Given the description of an element on the screen output the (x, y) to click on. 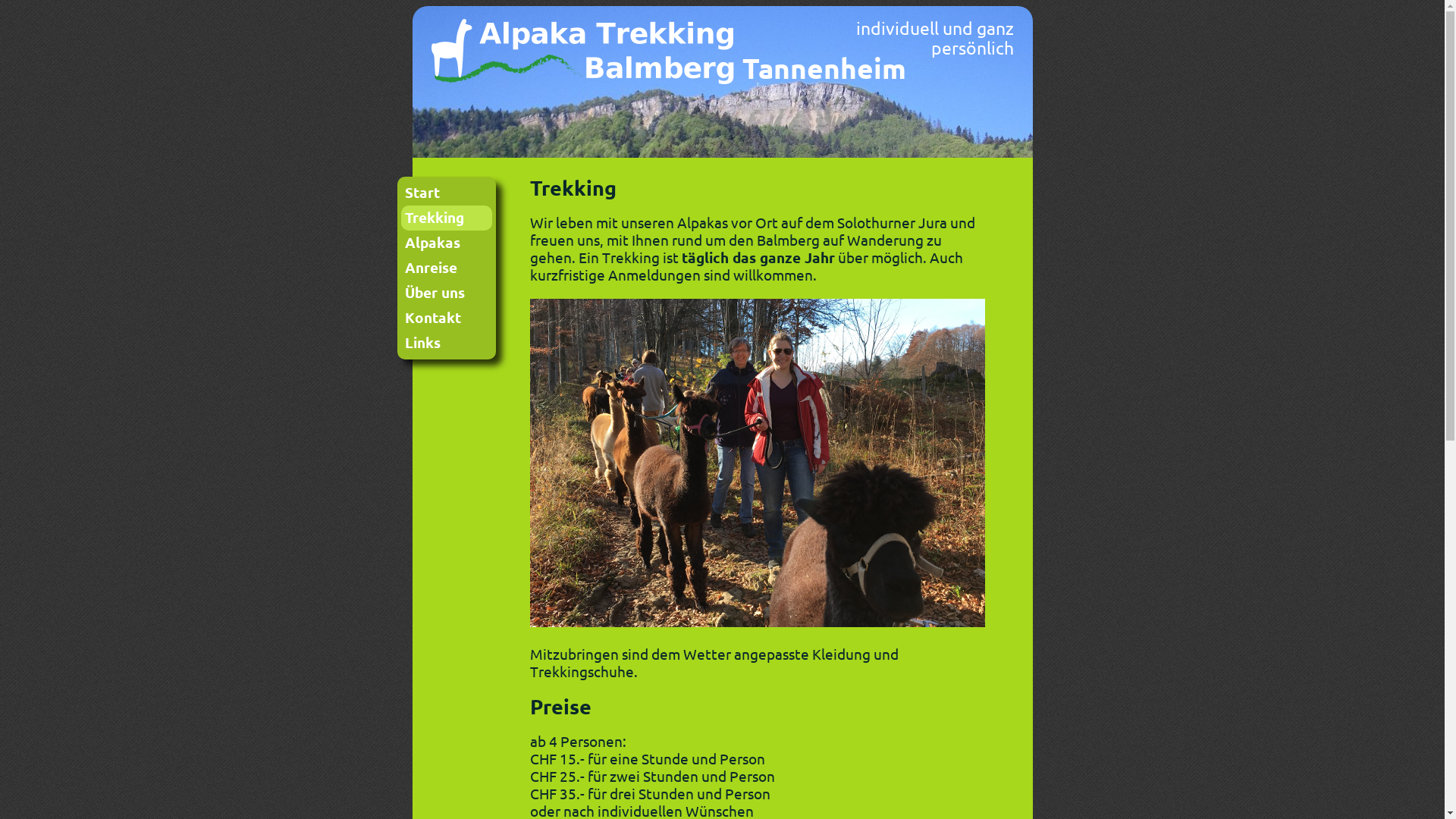
Alpakas Element type: text (445, 242)
Anreise Element type: text (445, 267)
Start Element type: text (445, 192)
Kontakt Element type: text (445, 317)
Links Element type: text (445, 342)
Trekking Element type: text (445, 217)
